Given the description of an element on the screen output the (x, y) to click on. 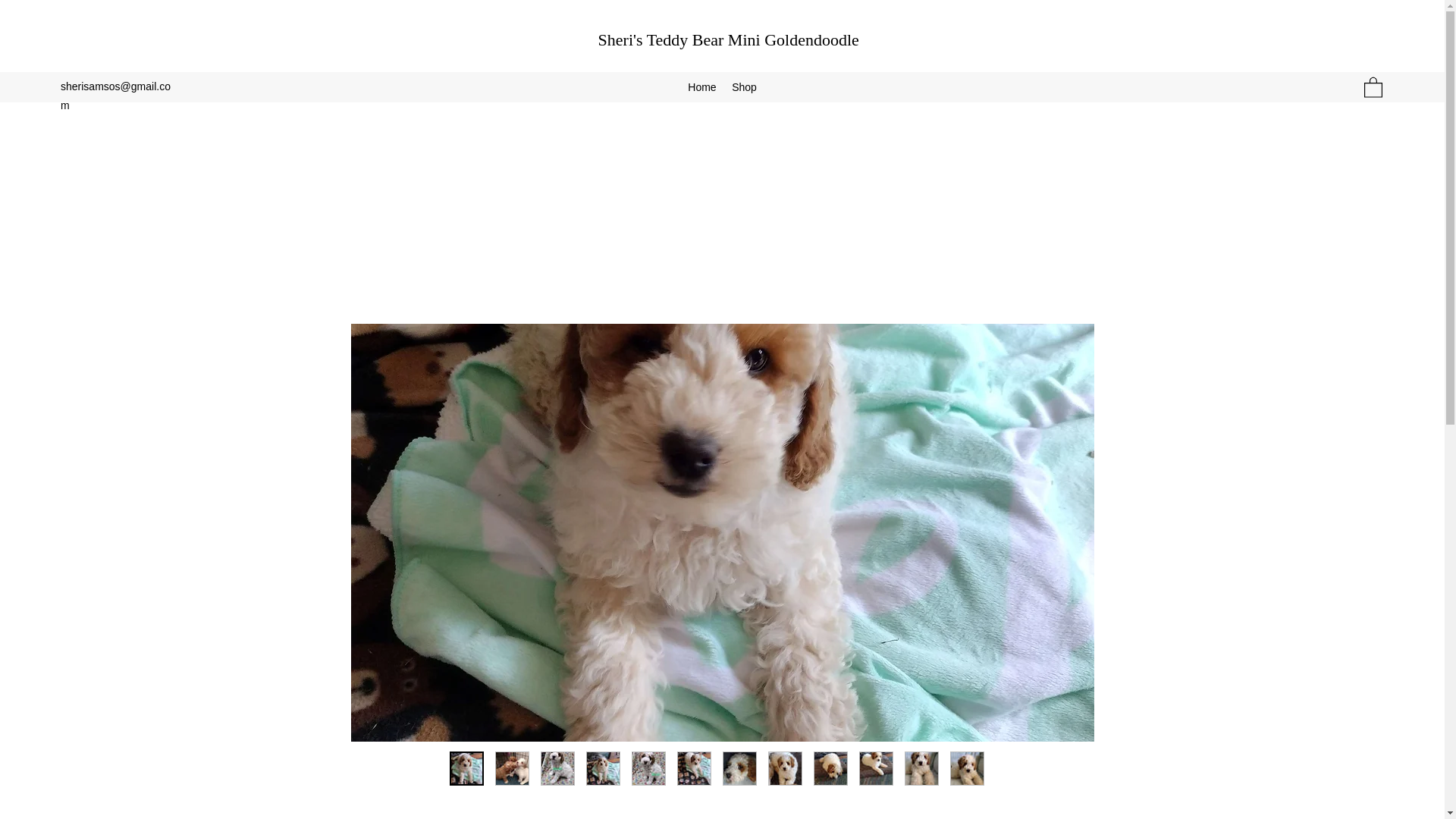
Shop (743, 87)
Home (701, 87)
Sheri's Teddy Bear Mini Goldendoodle (728, 39)
